Given the description of an element on the screen output the (x, y) to click on. 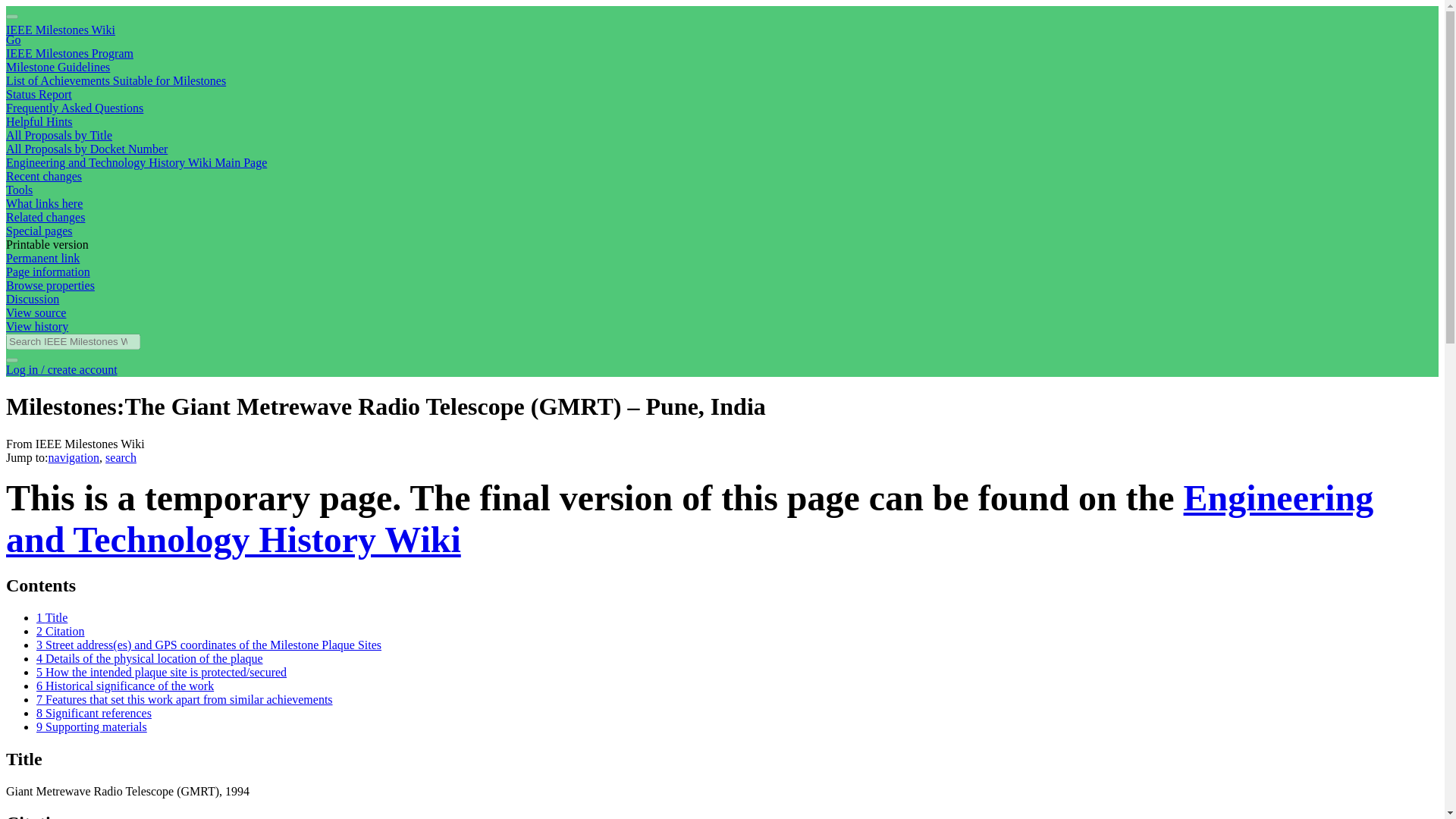
View history (36, 326)
Status Report (38, 93)
Page information (47, 271)
Engineering and Technology History Wiki Main Page (135, 162)
All Proposals by Docket Number (86, 148)
Visit the main page (60, 29)
4 Details of the physical location of the plaque (149, 658)
Printable version (46, 244)
More information about this page (47, 271)
2 Citation (60, 631)
Browse properties (49, 285)
Permanent link to this revision of this page (42, 257)
IEEE Milestones Wiki (60, 29)
search (120, 457)
Discussion (32, 298)
